Given the description of an element on the screen output the (x, y) to click on. 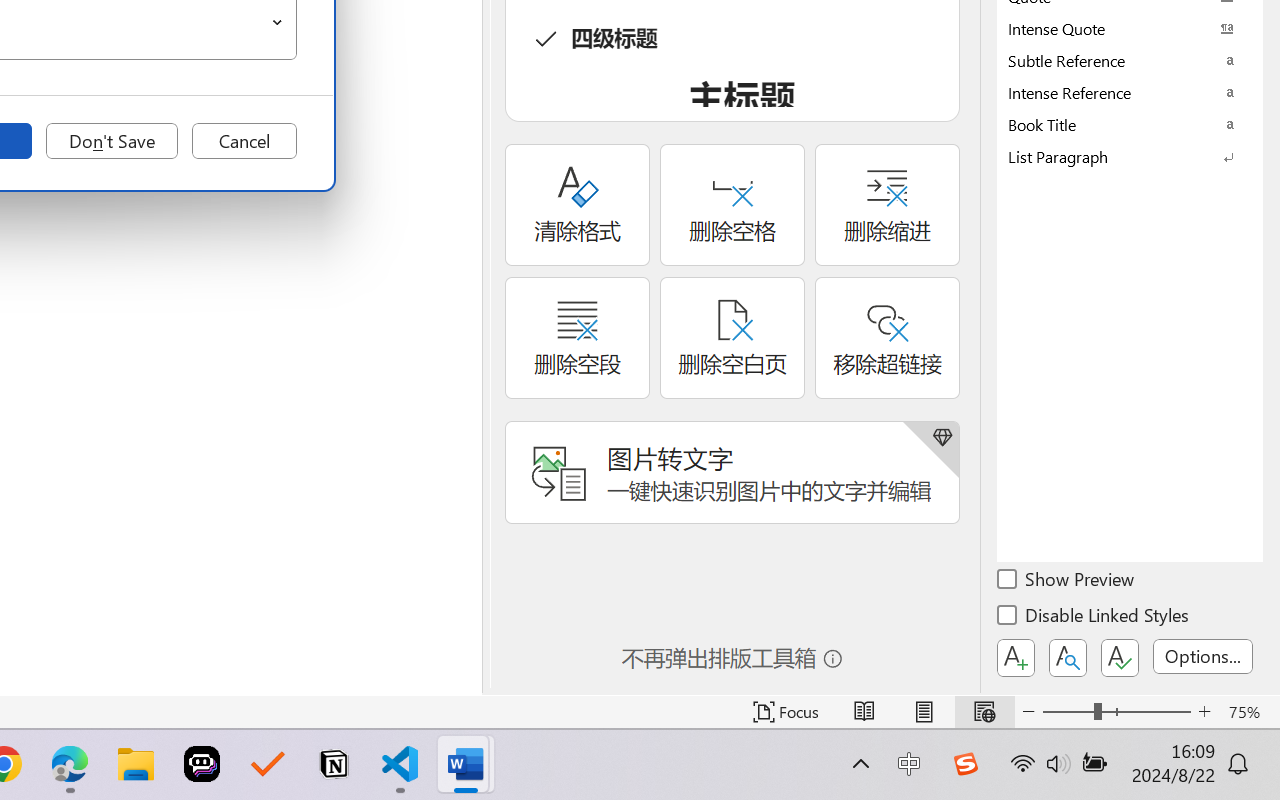
Intense Quote (1130, 28)
Show Preview (1067, 582)
Zoom Out (1067, 712)
Class: NetUIImage (1116, 156)
Focus  (786, 712)
Book Title (1130, 124)
Read Mode (864, 712)
